Given the description of an element on the screen output the (x, y) to click on. 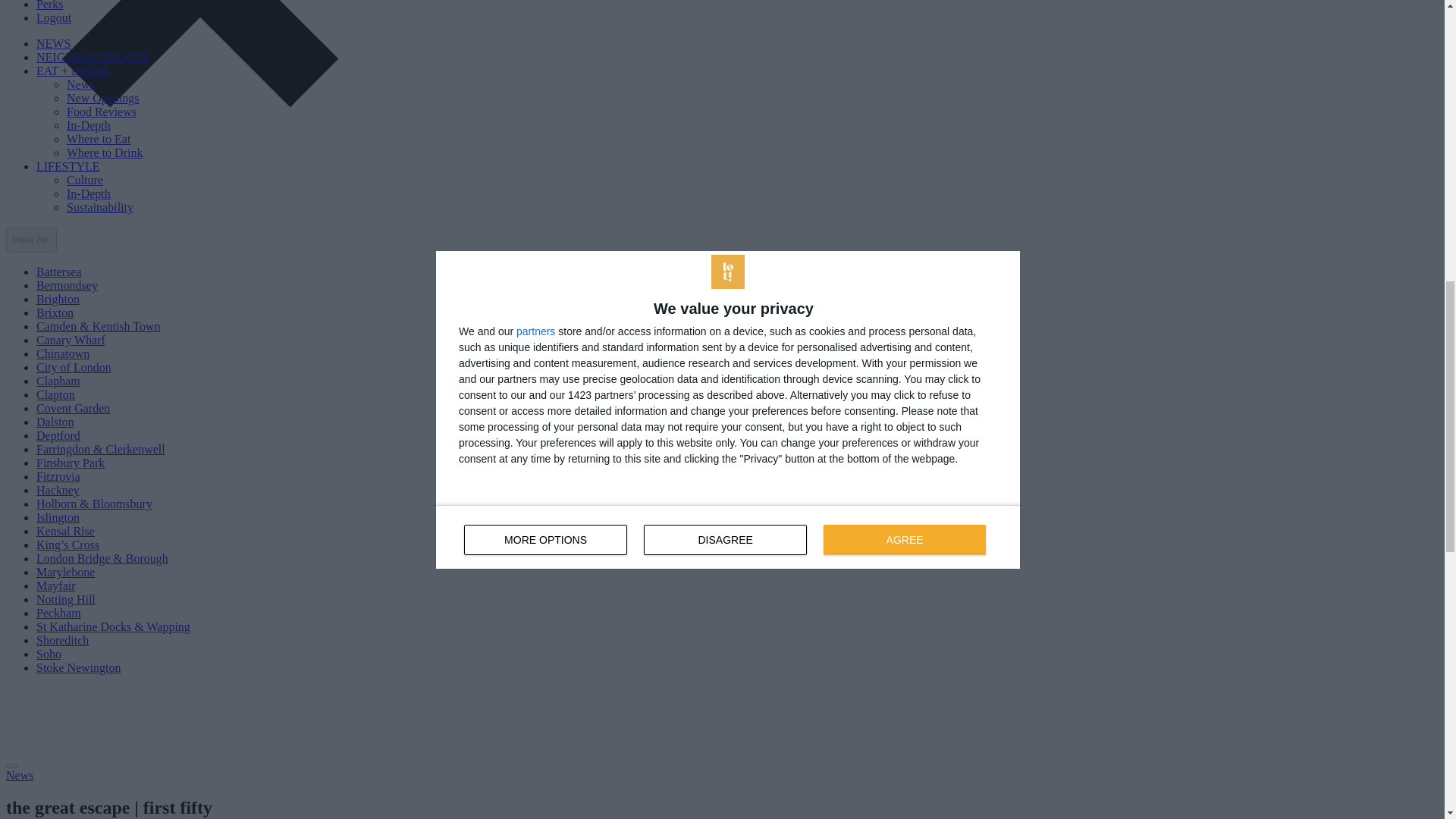
In-Depth (88, 124)
Logout (53, 17)
Where To Drink (104, 152)
Where To Eat (98, 138)
